Given the description of an element on the screen output the (x, y) to click on. 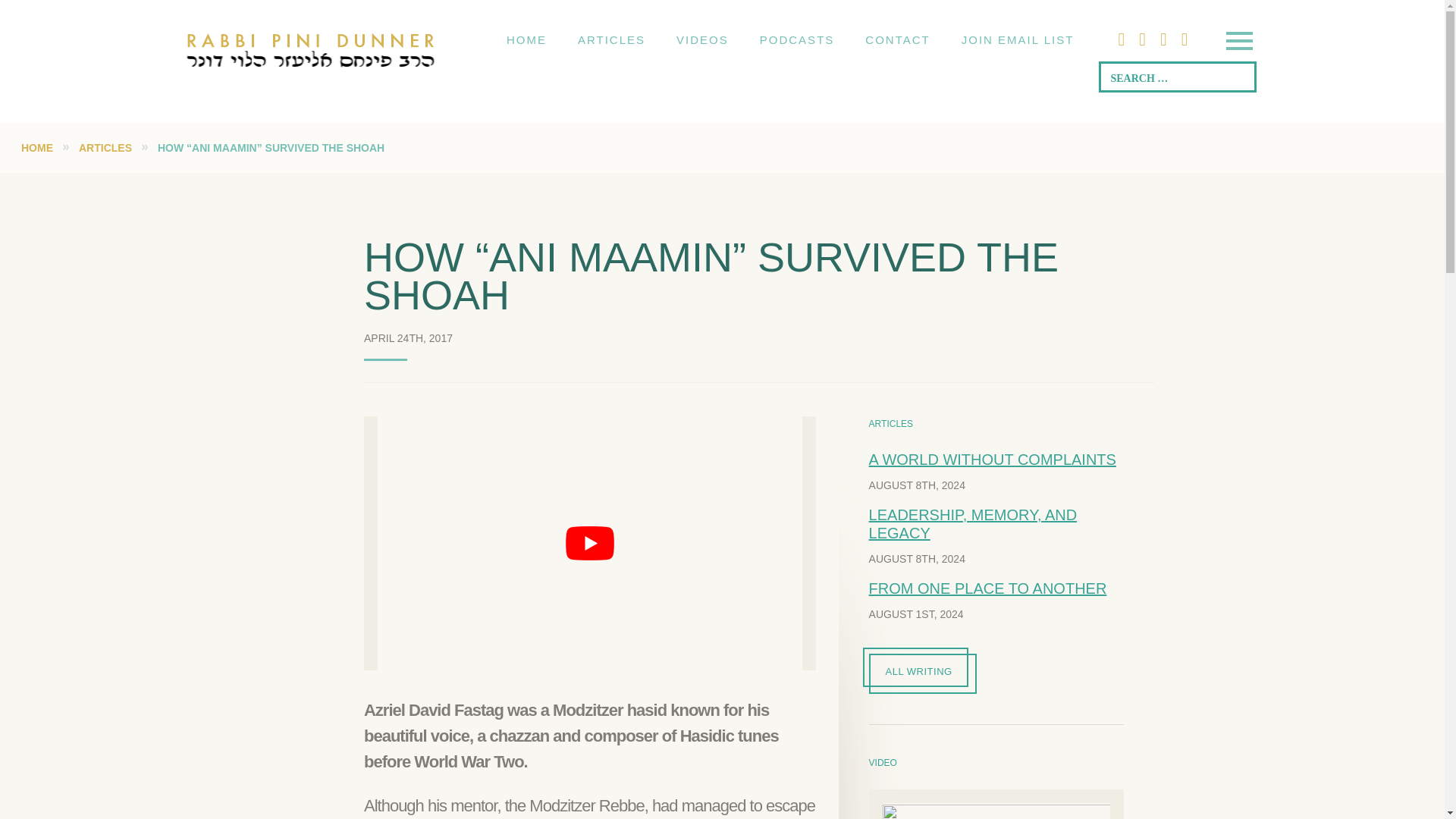
JOIN EMAIL LIST (1017, 40)
VIDEOS (702, 40)
HOME (36, 147)
PODCASTS (796, 40)
LEADERSHIP, MEMORY, AND LEGACY (973, 523)
ARTICLES (611, 40)
A WORLD WITHOUT COMPLAINTS (992, 459)
CONTACT (897, 40)
Rabbi Pini Dunner (310, 40)
ARTICLES (104, 147)
